Given the description of an element on the screen output the (x, y) to click on. 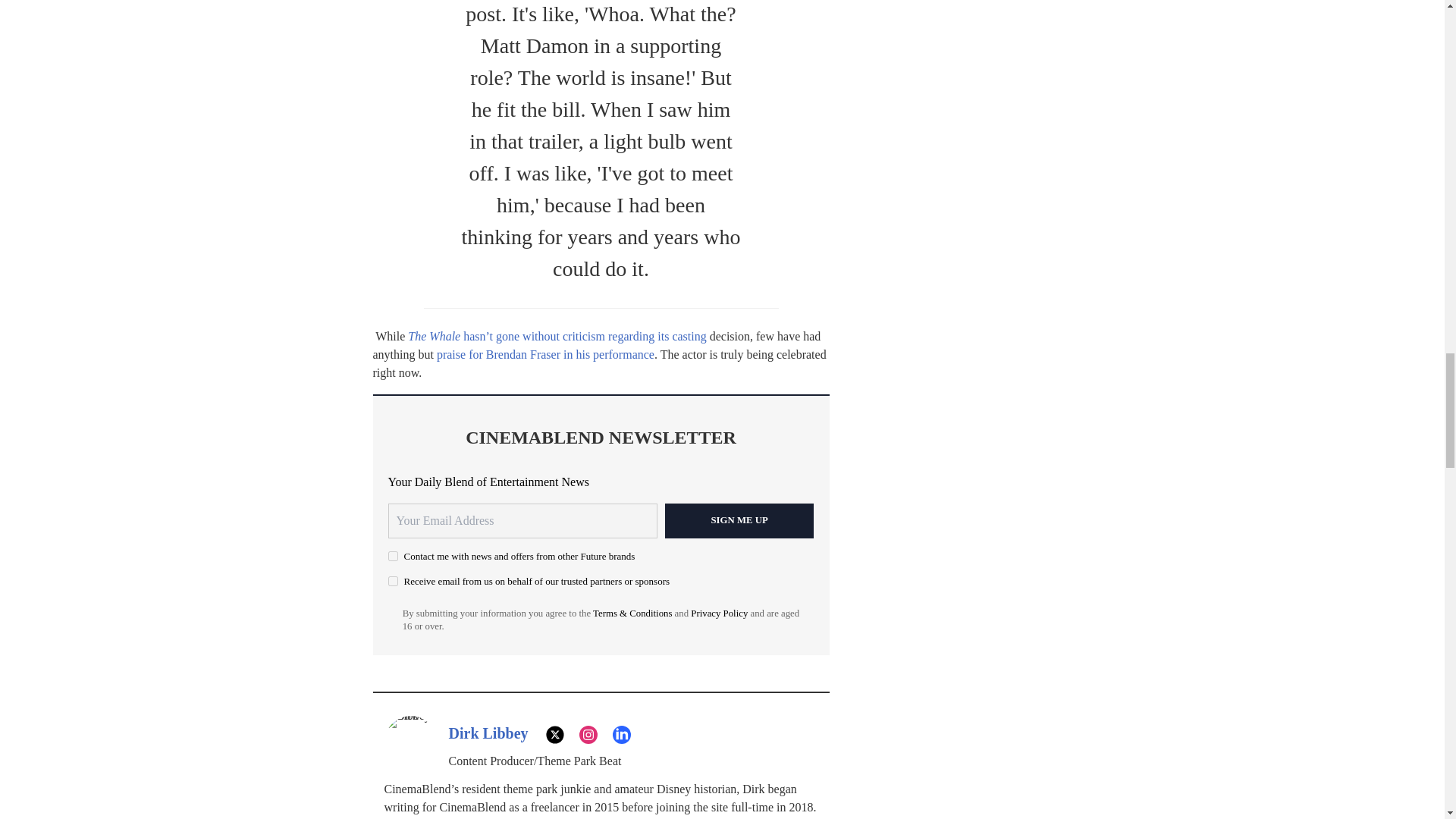
Sign me up (739, 520)
on (392, 556)
on (392, 581)
